Given the description of an element on the screen output the (x, y) to click on. 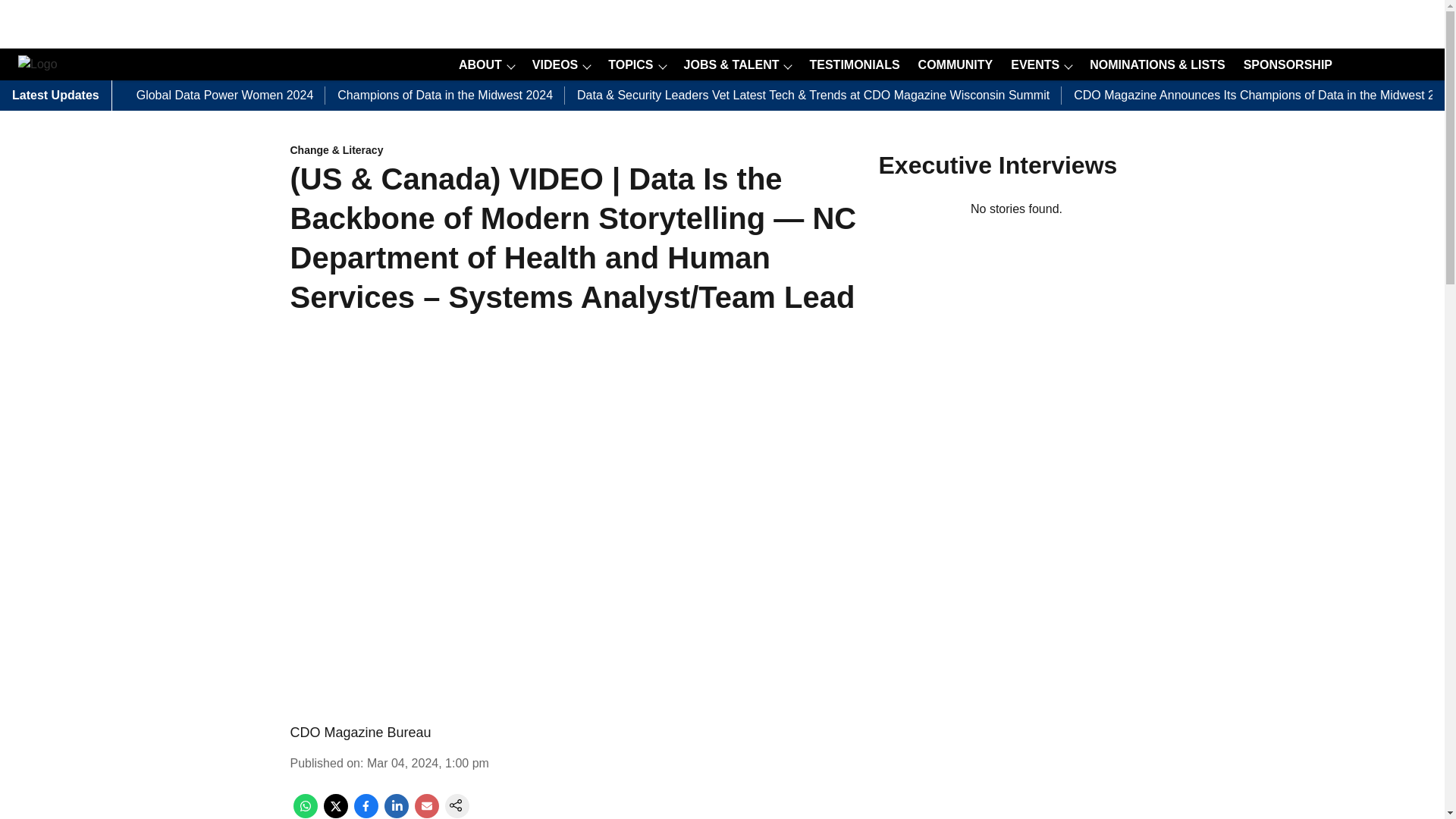
2024-03-04 13:00 (427, 762)
Champions of Data in the Midwest 2024 (445, 95)
CDO Magazine Bureau (359, 732)
COMMUNITY (950, 64)
Global Data Power Women 2024 (225, 95)
SPONSORSHIP (1283, 64)
TESTIMONIALS (849, 64)
